Given the description of an element on the screen output the (x, y) to click on. 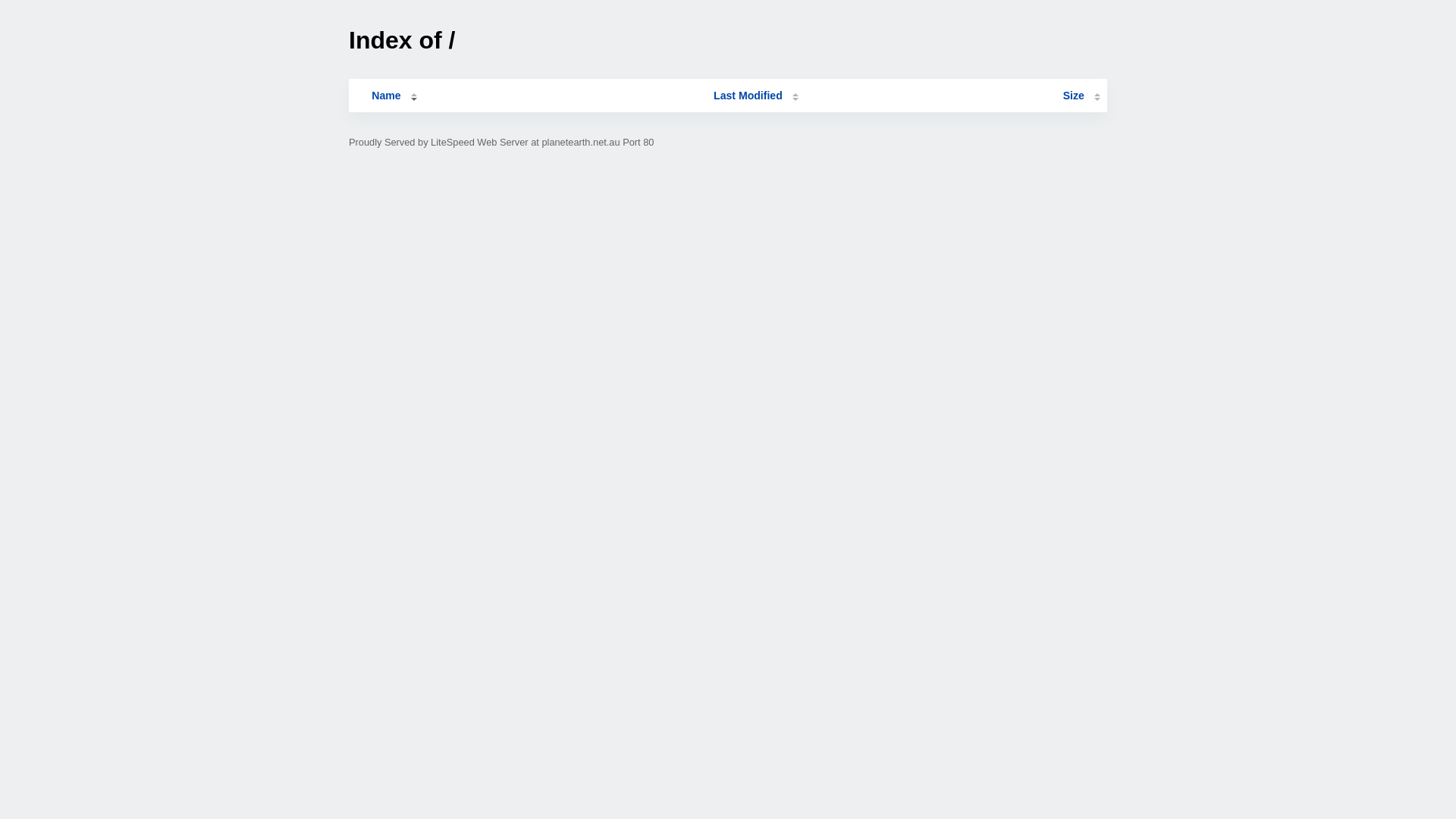
Last Modified Element type: text (755, 95)
Name Element type: text (385, 95)
Size Element type: text (1081, 95)
